Given the description of an element on the screen output the (x, y) to click on. 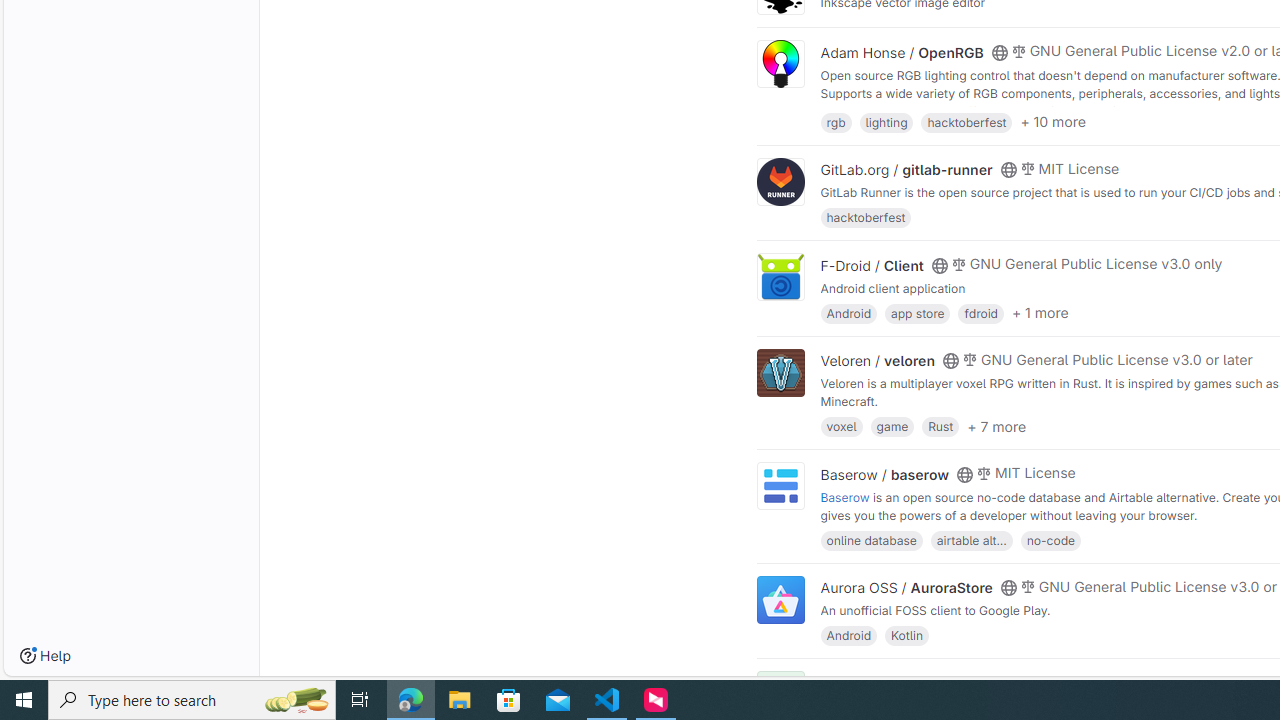
https://openrgb.org (989, 110)
rgb (836, 120)
F-Droid / Client (872, 265)
Kotlin (907, 634)
+ 10 more (1053, 121)
F (780, 695)
Android (848, 634)
Help (45, 655)
Class: project (780, 599)
online database (871, 539)
Aurora OSS / AuroraStore (906, 587)
GitLab.org / gitlab-runner (906, 170)
Edouard Klein / falsisign (902, 682)
Class: s16 (999, 683)
Veloren / veloren (877, 361)
